Given the description of an element on the screen output the (x, y) to click on. 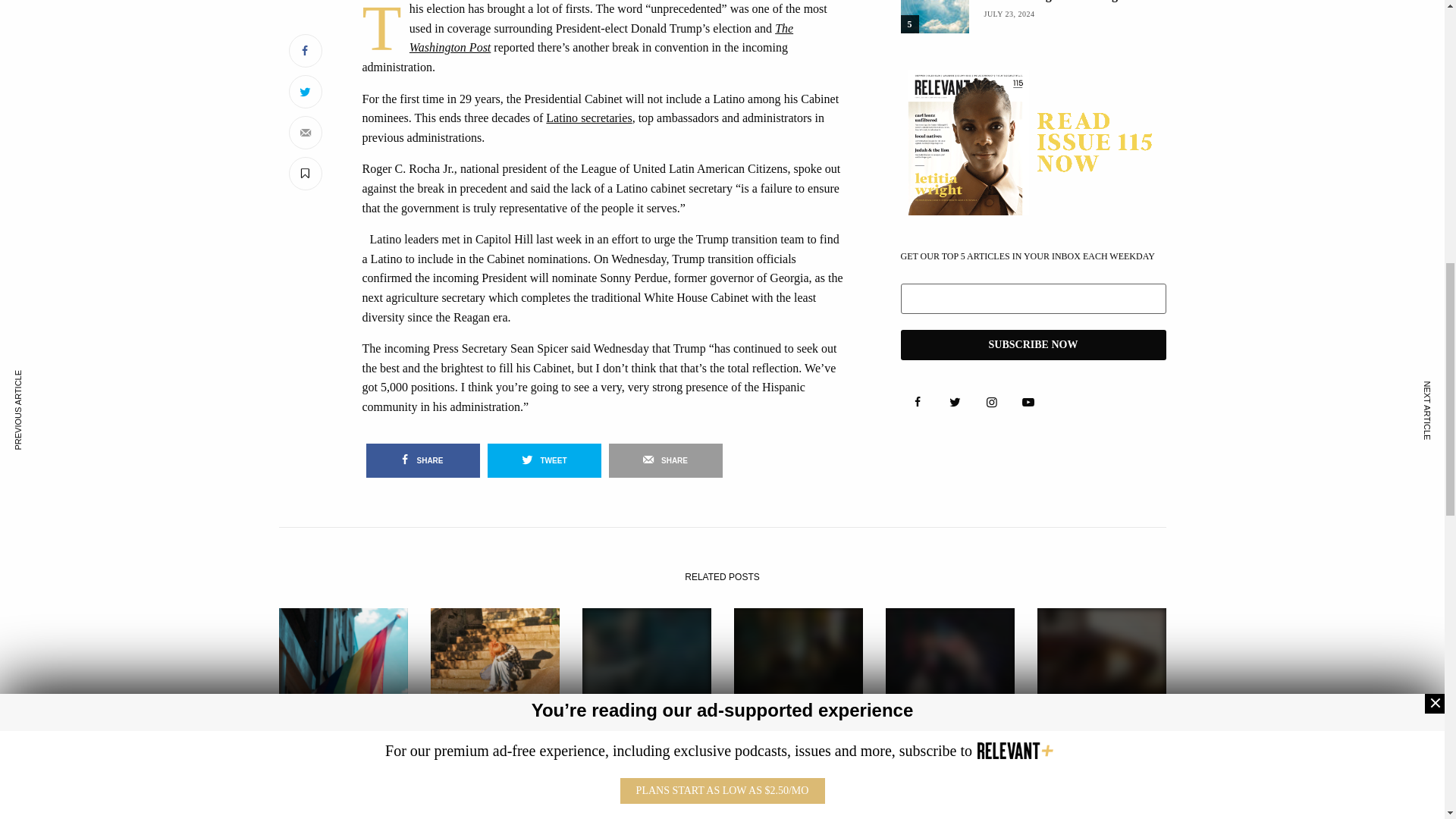
Subscribe Now (1033, 345)
